Given the description of an element on the screen output the (x, y) to click on. 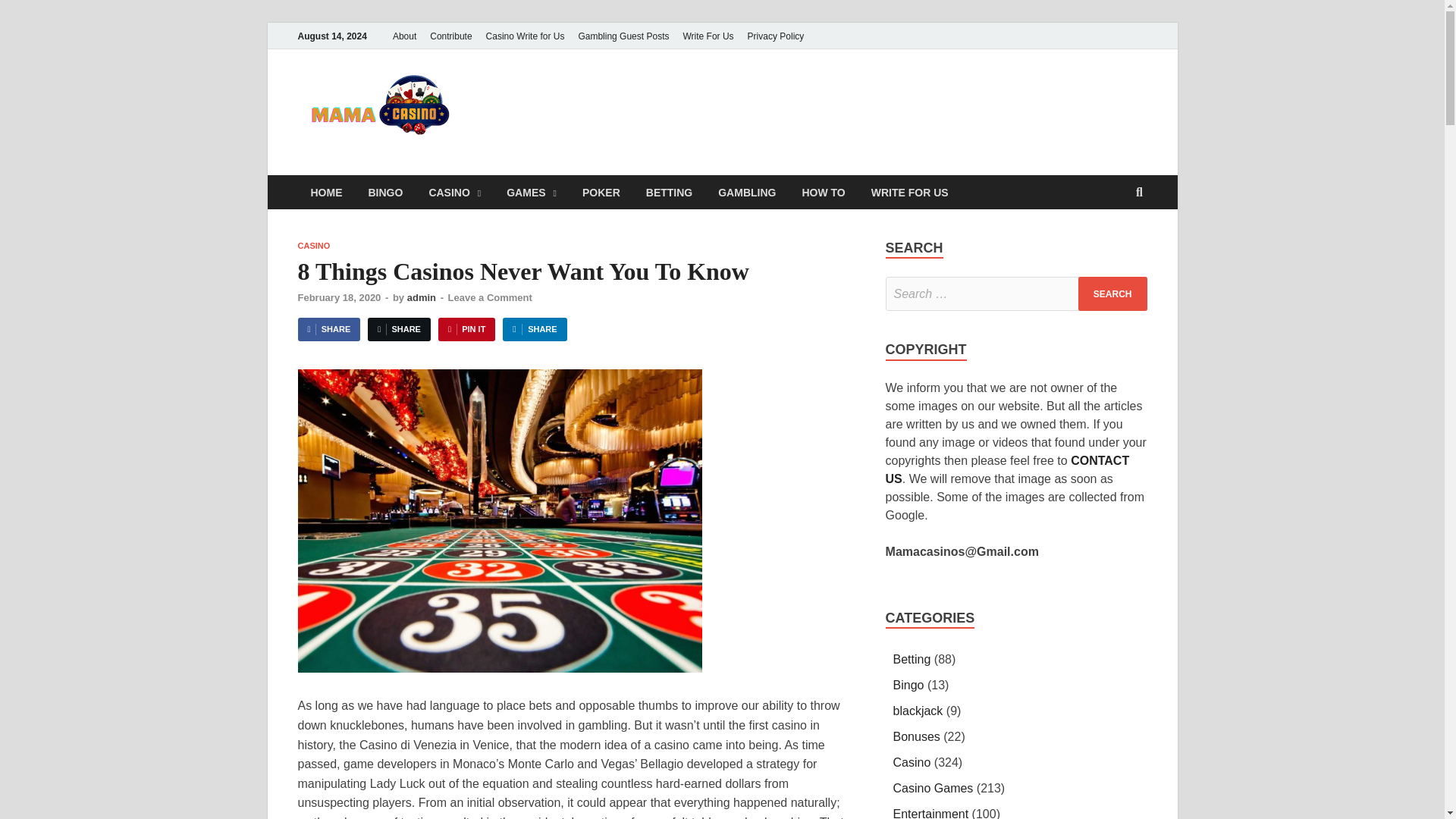
GAMES (531, 192)
CASINO (313, 245)
About (404, 35)
Search (1112, 293)
admin (421, 297)
POKER (601, 192)
Contribute (451, 35)
BETTING (668, 192)
Privacy Policy (775, 35)
Mama Casinos: (615, 100)
